Given the description of an element on the screen output the (x, y) to click on. 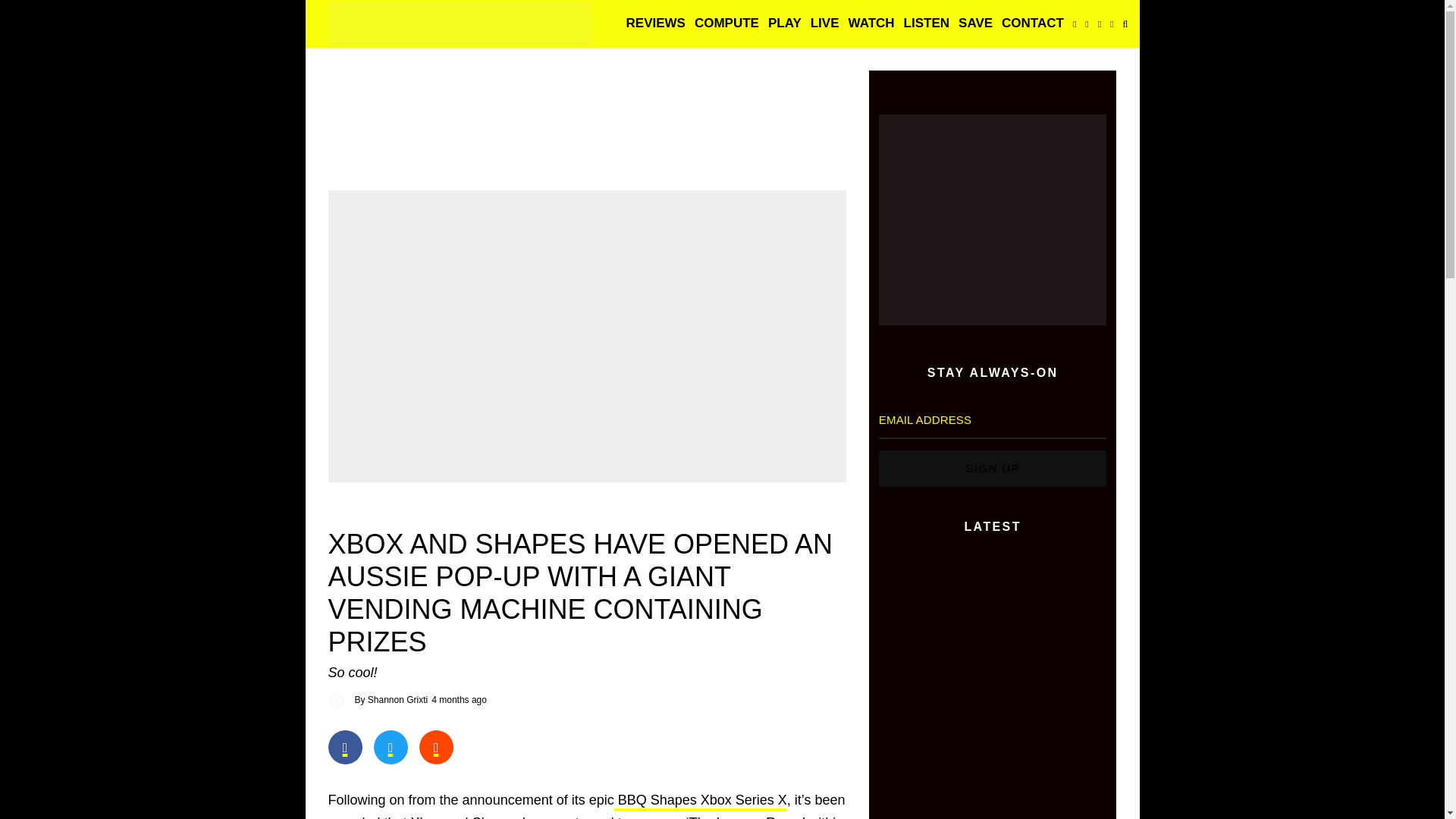
COMPUTE (726, 23)
REVIEWS (655, 23)
Sign up (992, 468)
